Given the description of an element on the screen output the (x, y) to click on. 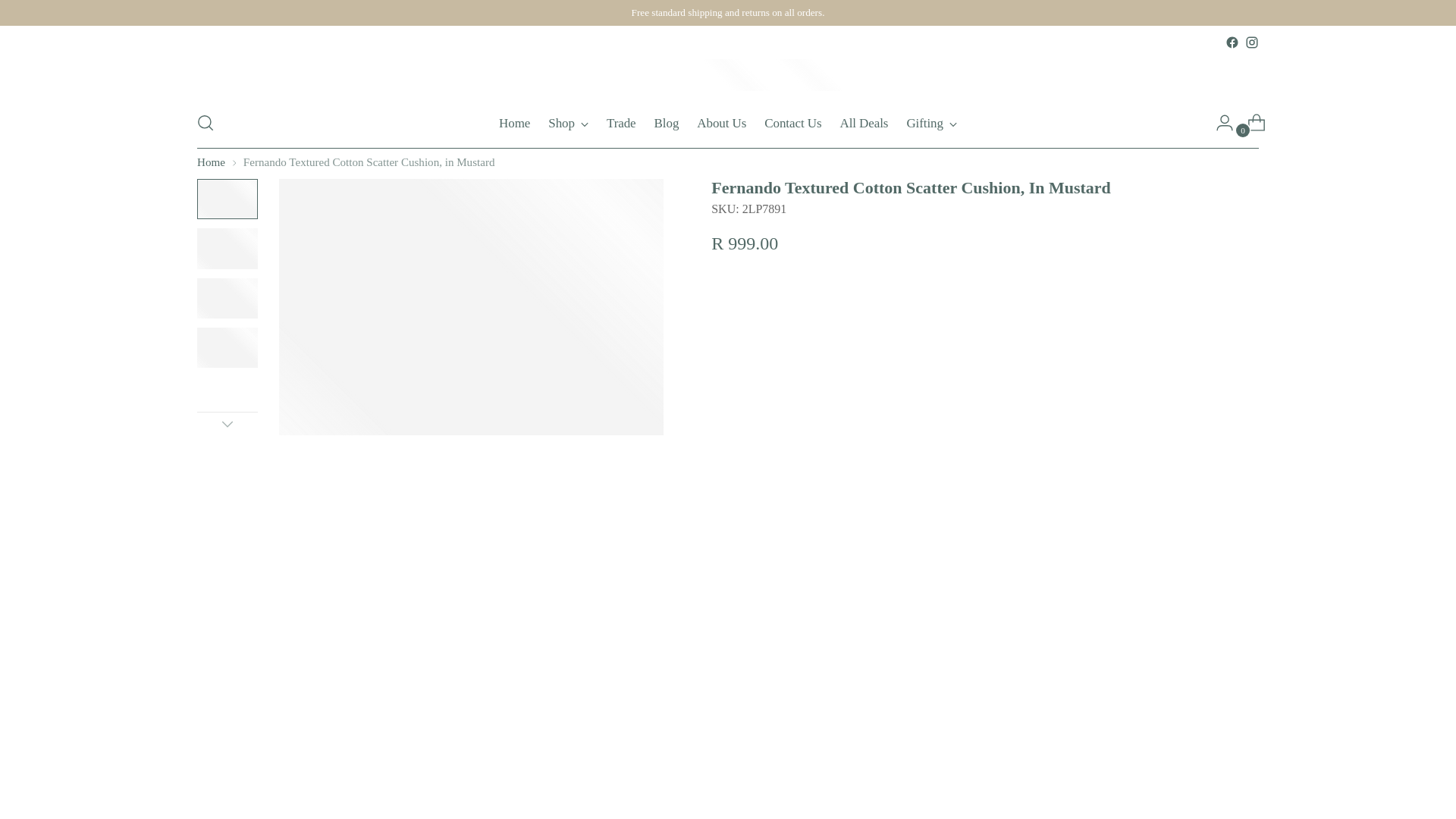
Ethos Store on Instagram (1251, 42)
Home (514, 122)
Down (226, 423)
Shop (727, 122)
Ethos Store on Facebook (568, 122)
